Given the description of an element on the screen output the (x, y) to click on. 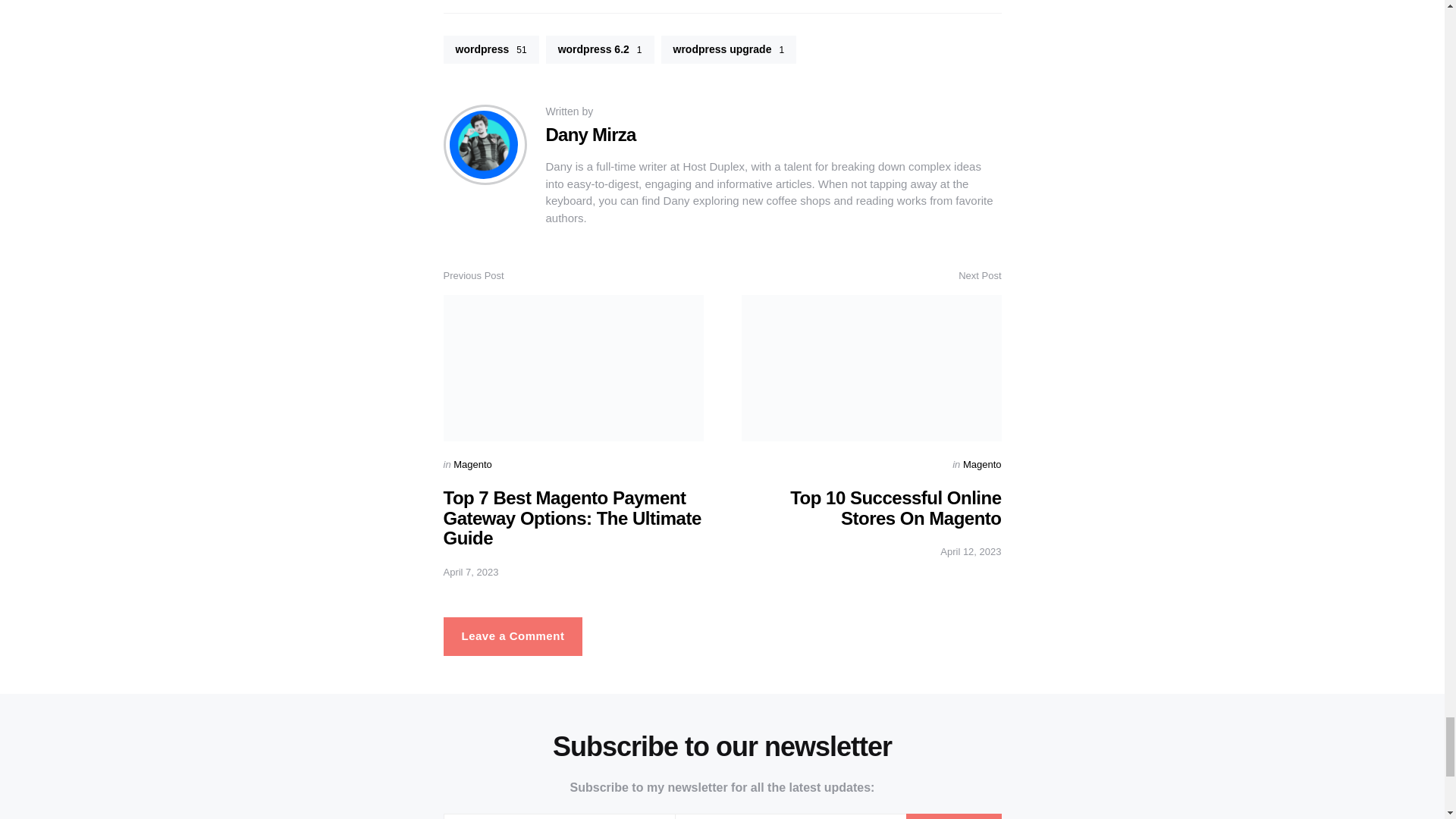
Subscribe (953, 816)
